Given the description of an element on the screen output the (x, y) to click on. 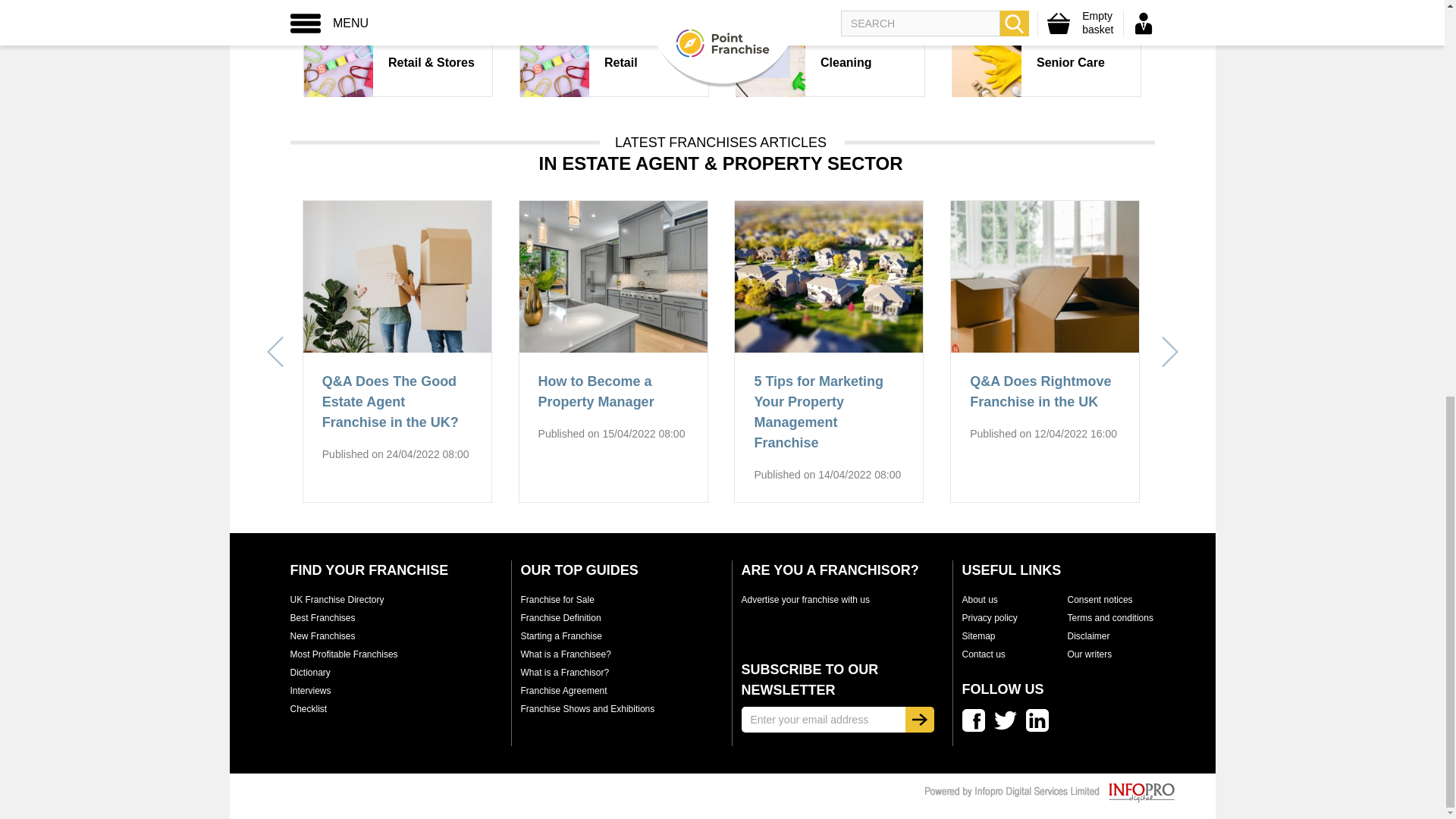
Dictionary (309, 672)
Checklist (307, 708)
Find the most profitable UK franchises (343, 654)
The full UK franchise directory (336, 599)
Discover UK's best franchises (322, 617)
Interviews (309, 690)
Discover the newest franchises (322, 635)
